Given the description of an element on the screen output the (x, y) to click on. 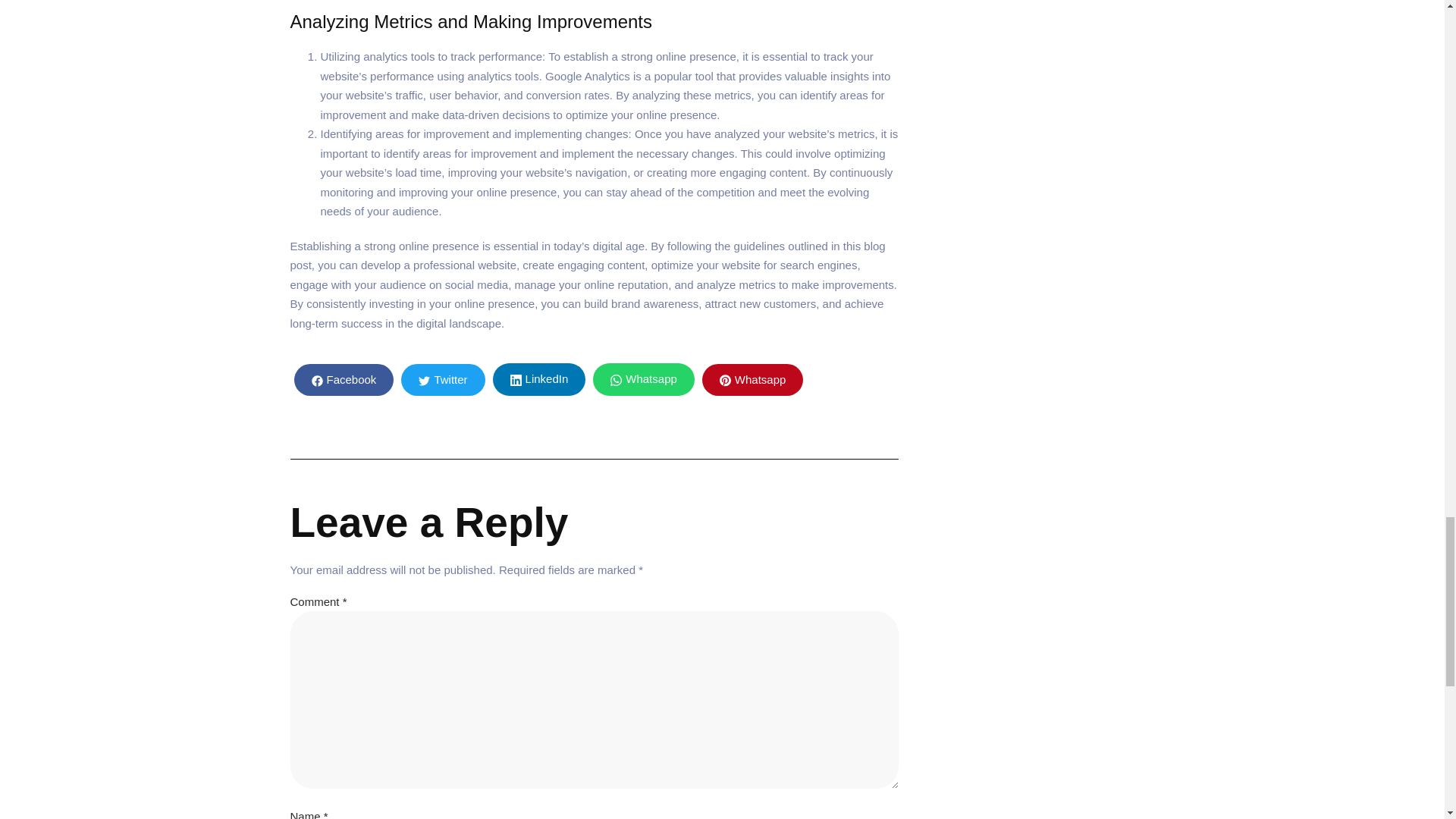
Facebook (344, 379)
Twitter (442, 379)
Whatsapp (643, 379)
LinkedIn (539, 379)
Whatsapp (752, 379)
